Given the description of an element on the screen output the (x, y) to click on. 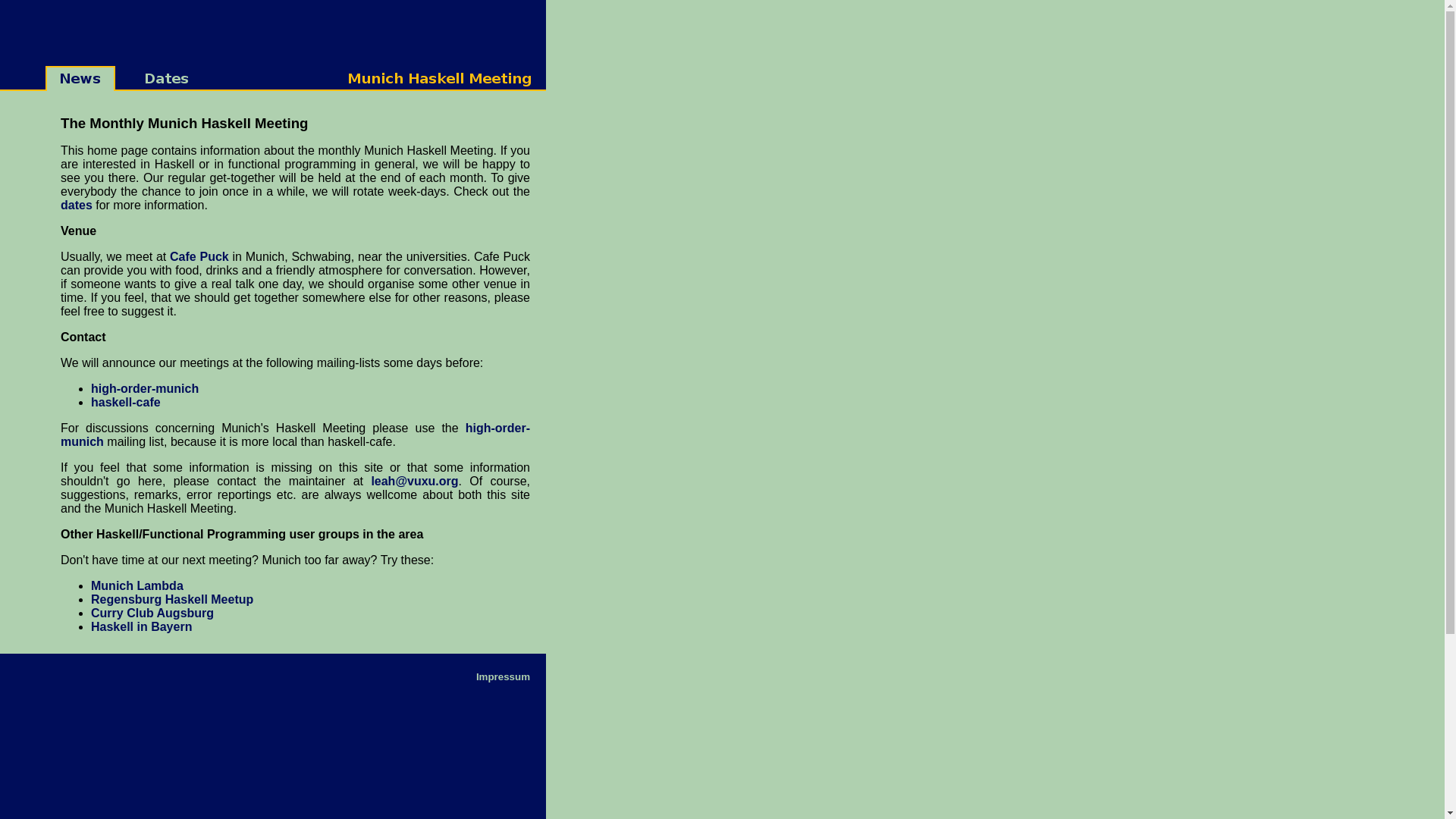
leah@vuxu.org Element type: text (414, 480)
Curry Club Augsburg Element type: text (152, 612)
Cafe Puck Element type: text (199, 256)
Haskell in Bayern Element type: text (141, 626)
high-order-munich Element type: text (295, 434)
Impressum Element type: text (503, 676)
high-order-munich Element type: text (144, 388)
haskell-cafe Element type: text (125, 401)
Regensburg Haskell Meetup Element type: text (172, 599)
dates Element type: text (76, 204)
Munich Lambda Element type: text (137, 585)
